Given the description of an element on the screen output the (x, y) to click on. 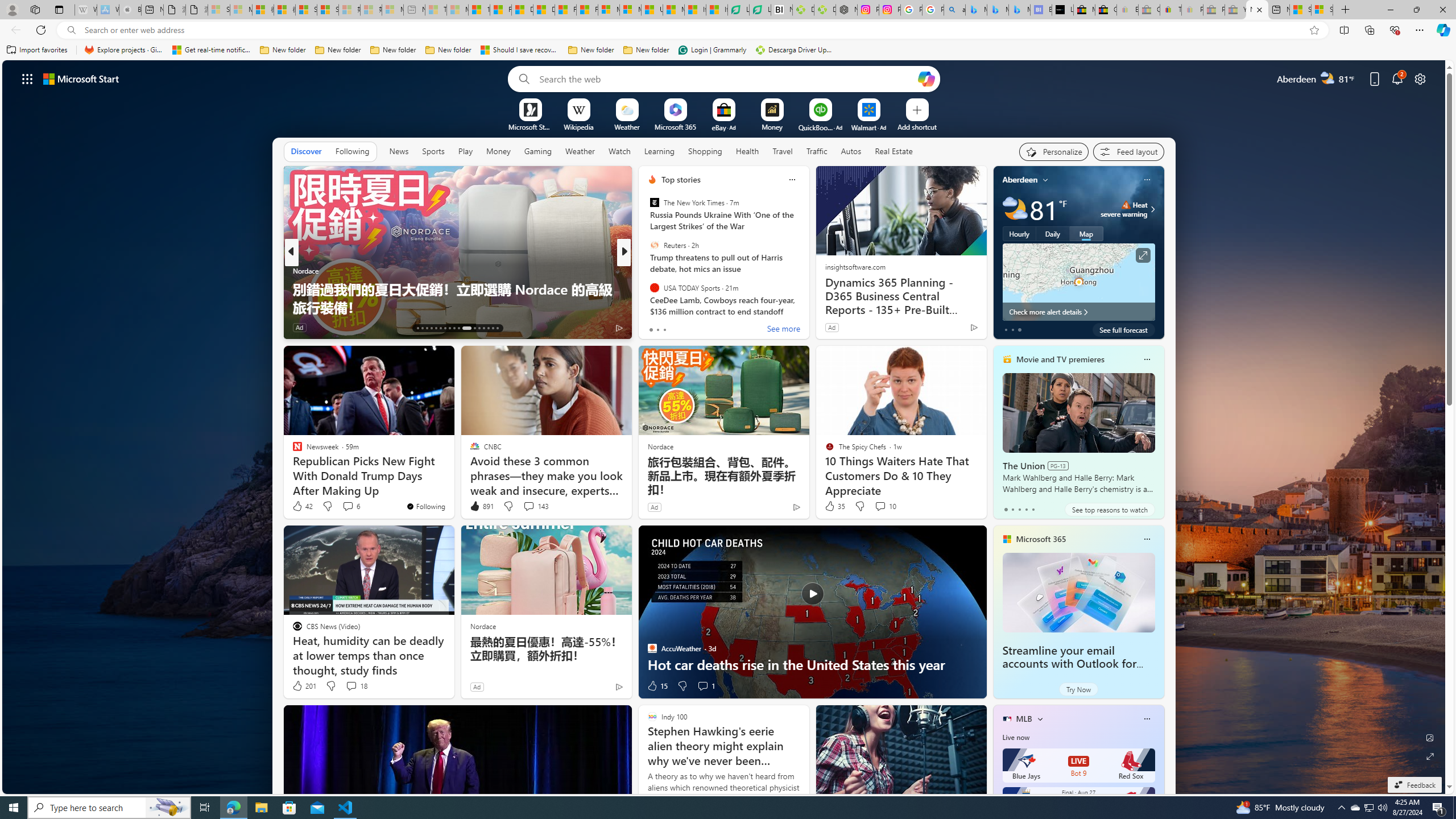
18 Low-Class Behaviors To Ditch Immediately (807, 307)
Page settings (1420, 78)
Microsoft account | Account Checkup - Sleeping (392, 9)
View comments 18 Comment (355, 685)
Gaming (537, 151)
Watch (619, 151)
Enter your search term (726, 78)
AutomationID: tab-31 (488, 328)
15 Like (657, 685)
Aberdeen (1019, 179)
Yard, Garden & Outdoor Living - Sleeping (1235, 9)
